Given the description of an element on the screen output the (x, y) to click on. 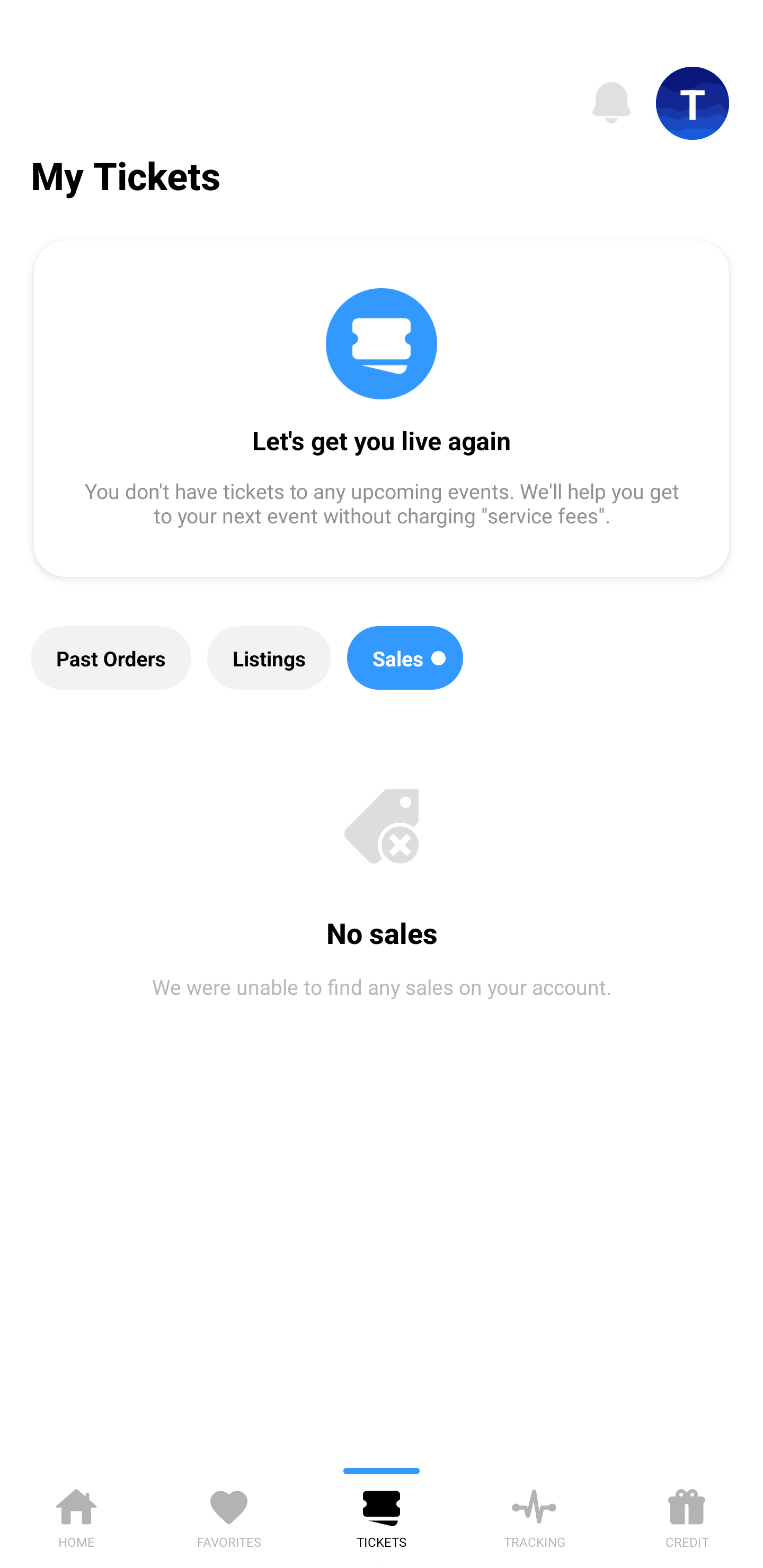
T (692, 103)
Past Orders (110, 657)
Listings (269, 657)
Sales (405, 657)
HOME (76, 1515)
FAVORITES (228, 1515)
TICKETS (381, 1515)
TRACKING (533, 1515)
CREDIT (686, 1515)
